Given the description of an element on the screen output the (x, y) to click on. 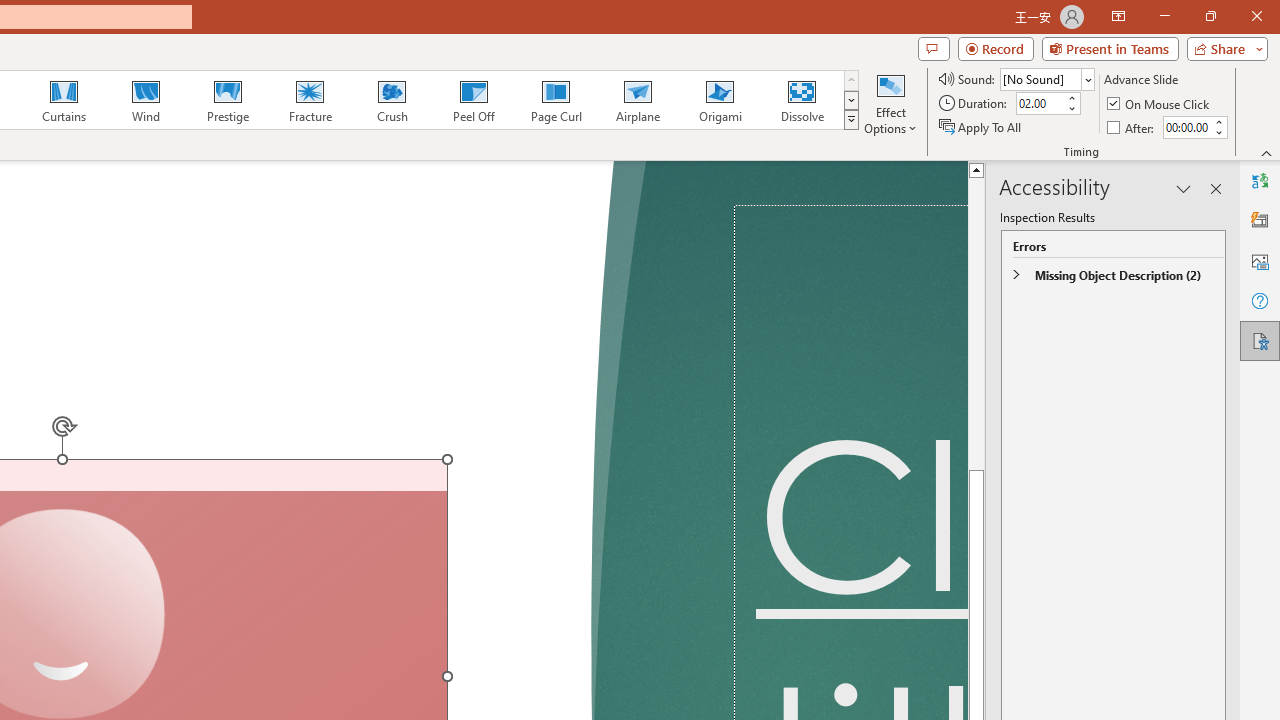
Fracture (309, 100)
Curtains (63, 100)
Peel Off (473, 100)
Sound (1046, 78)
Crush (391, 100)
On Mouse Click (1159, 103)
